Given the description of an element on the screen output the (x, y) to click on. 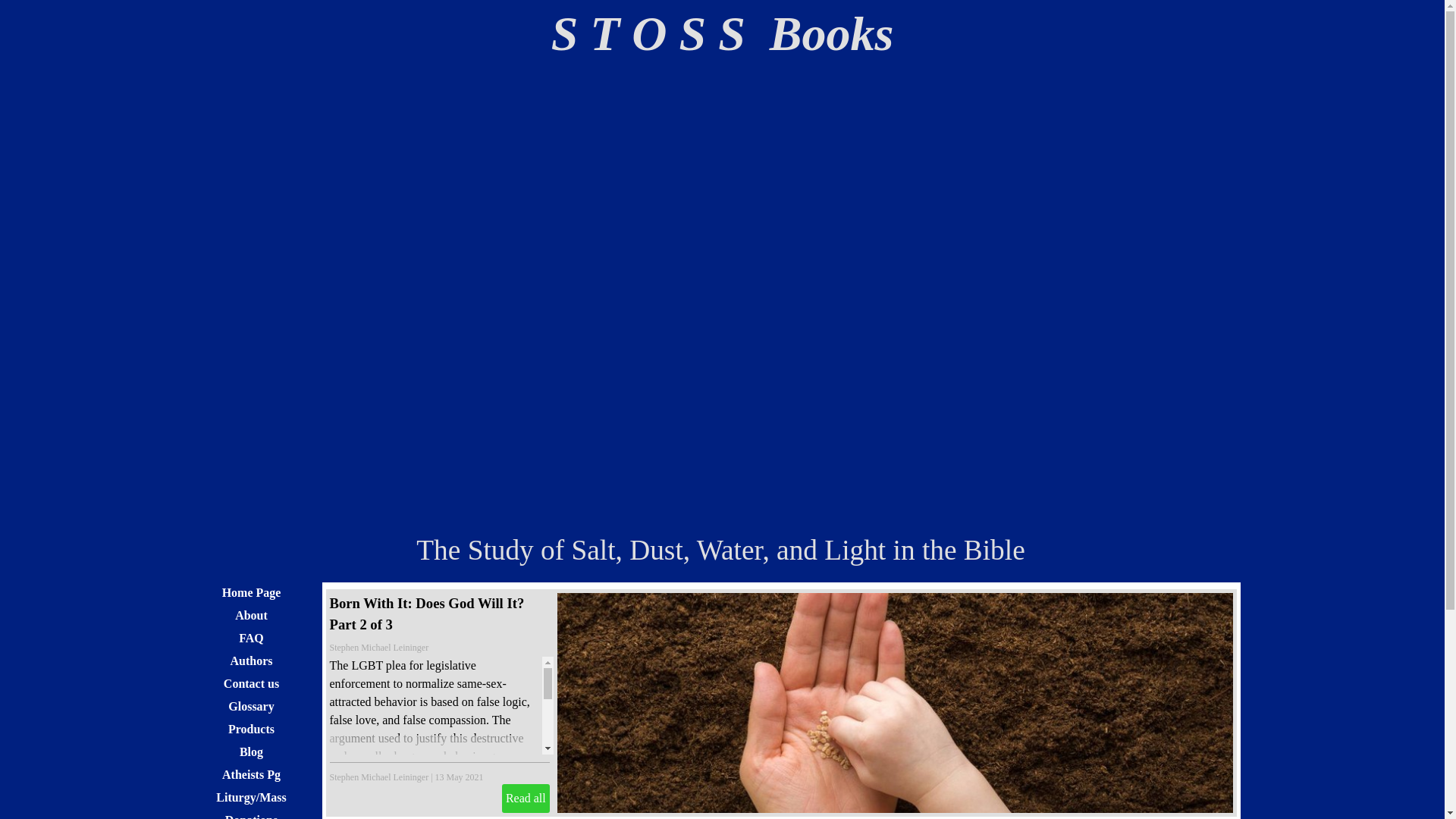
Blog (251, 752)
Home Page (251, 592)
FAQ (251, 638)
Contact us (251, 683)
